Given the description of an element on the screen output the (x, y) to click on. 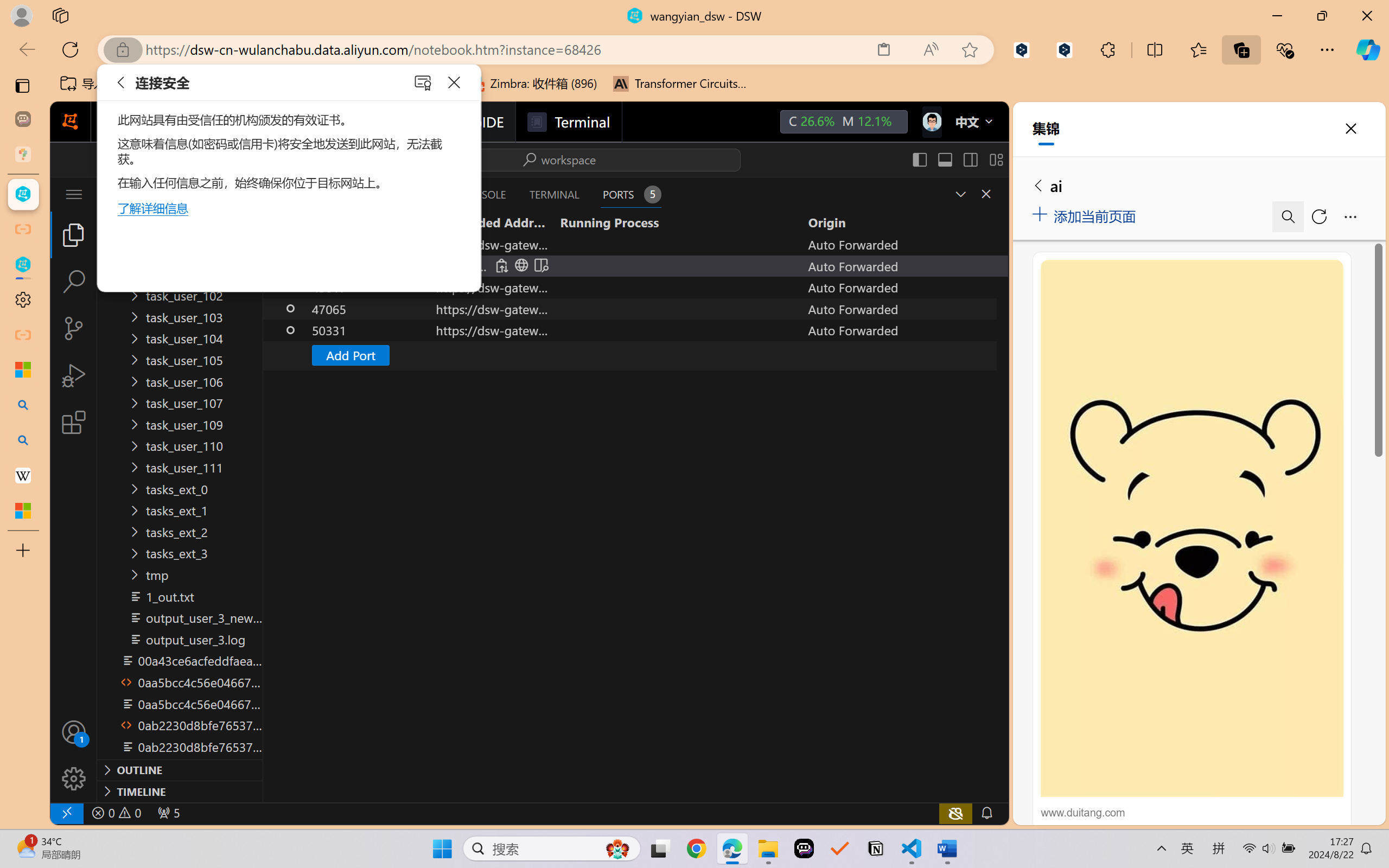
Close Panel (986, 193)
Transformer Circuits Thread (680, 83)
Forwarded Ports: 36301, 47065, 38781, 45817, 50331 (167, 812)
Outline Section (179, 769)
